Given the description of an element on the screen output the (x, y) to click on. 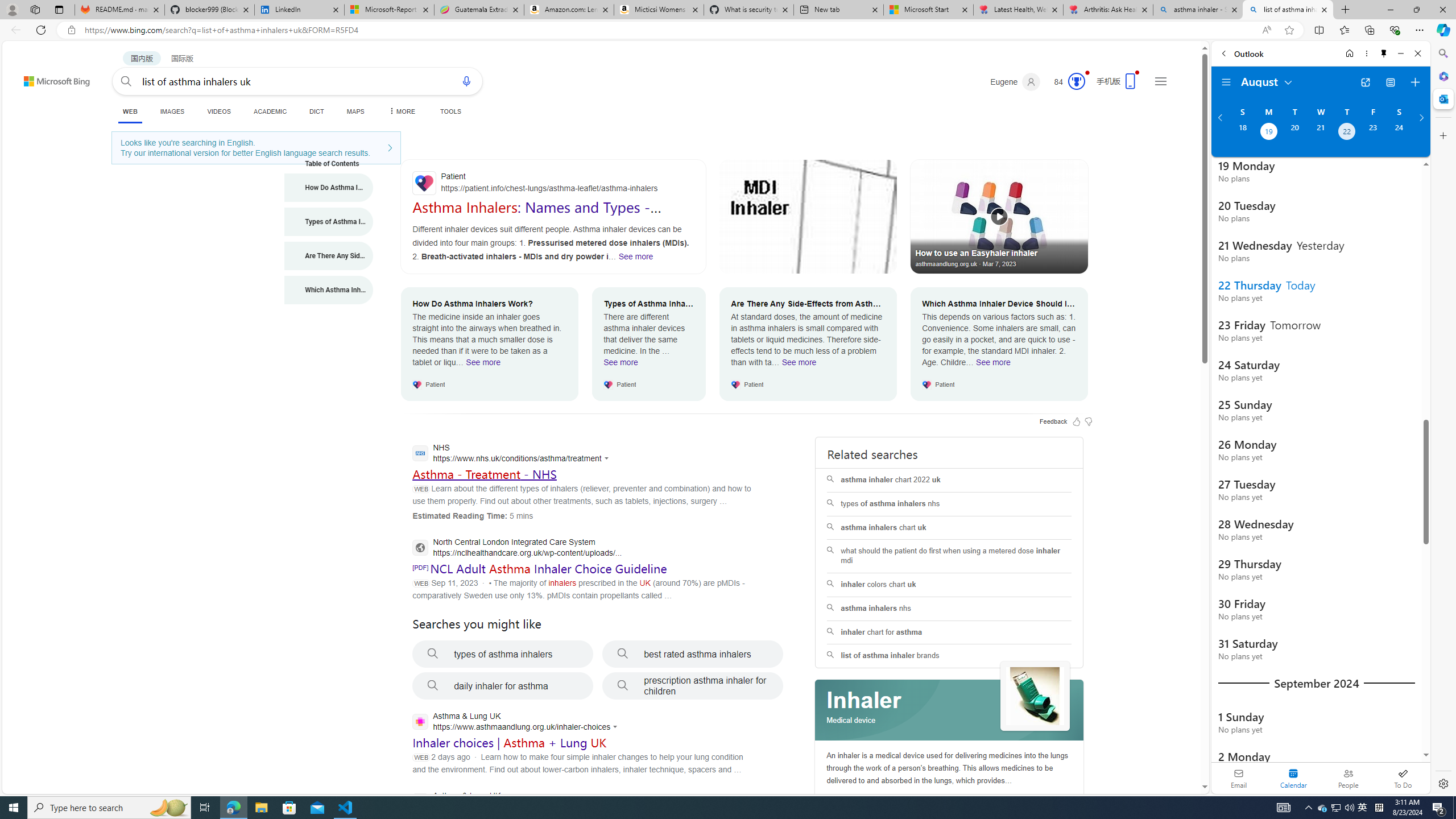
types of asthma inhalers nhs (949, 504)
Animation (1086, 72)
To Do (1402, 777)
MAPS (355, 111)
Microsoft Rewards 84 (1065, 81)
best rated asthma inhalers (692, 653)
WEB (129, 112)
Asthma Inhalers: Names and Types - Patient (536, 214)
See more images of Inhaler (1035, 696)
